Given the description of an element on the screen output the (x, y) to click on. 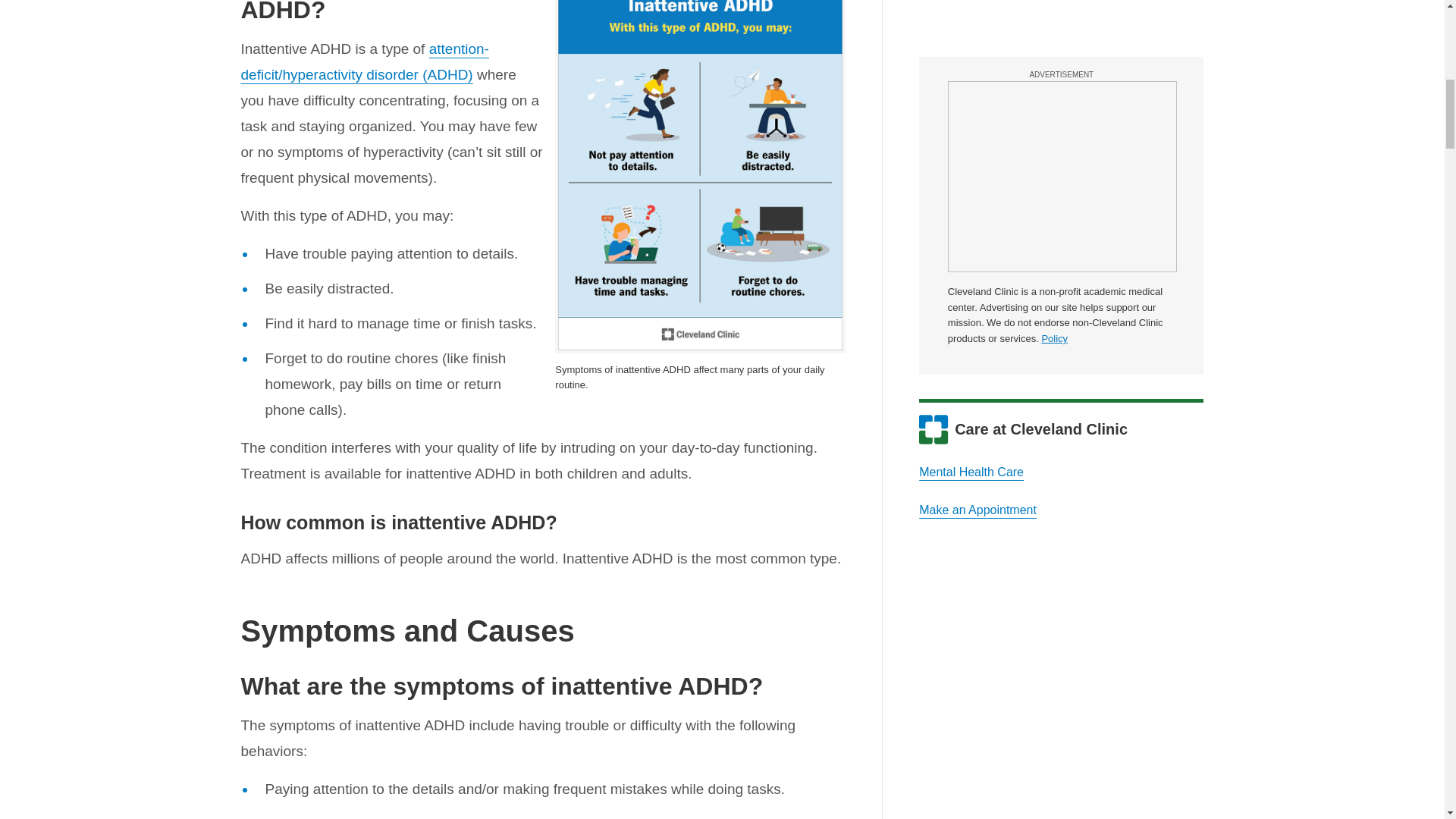
3rd party ad content (1061, 22)
